Given the description of an element on the screen output the (x, y) to click on. 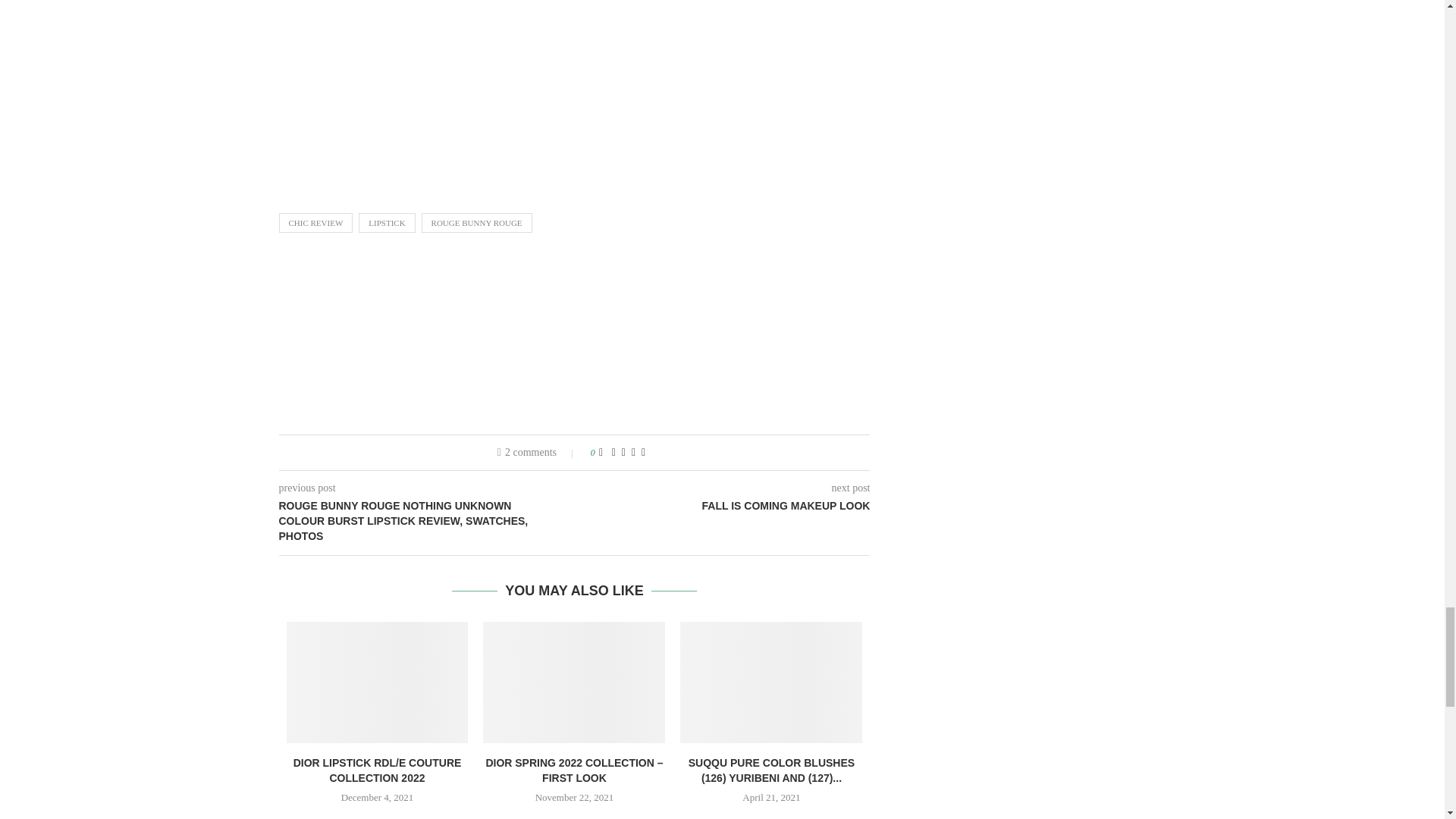
Like (600, 452)
